Given the description of an element on the screen output the (x, y) to click on. 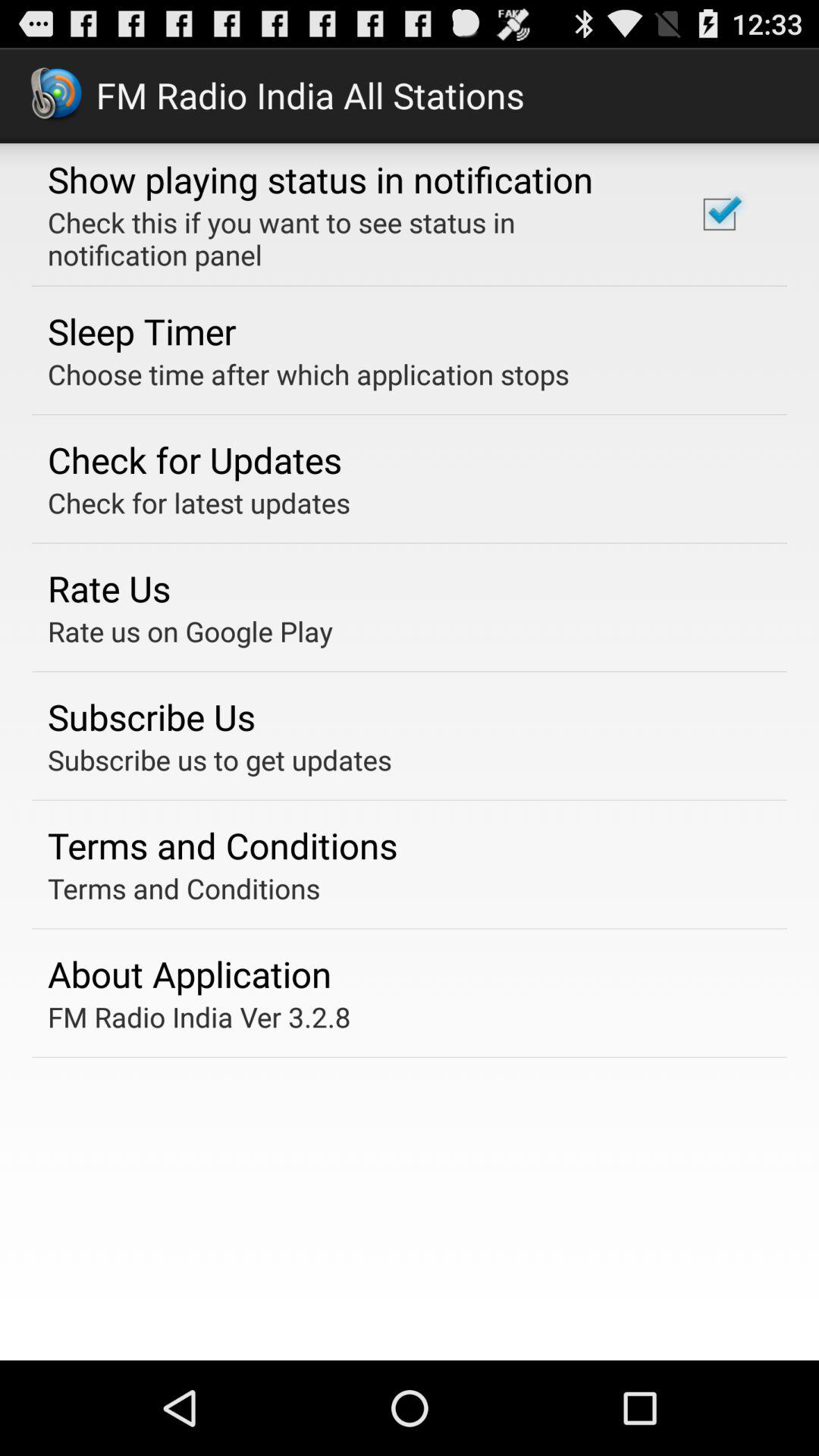
turn on the app below sleep timer app (308, 374)
